Given the description of an element on the screen output the (x, y) to click on. 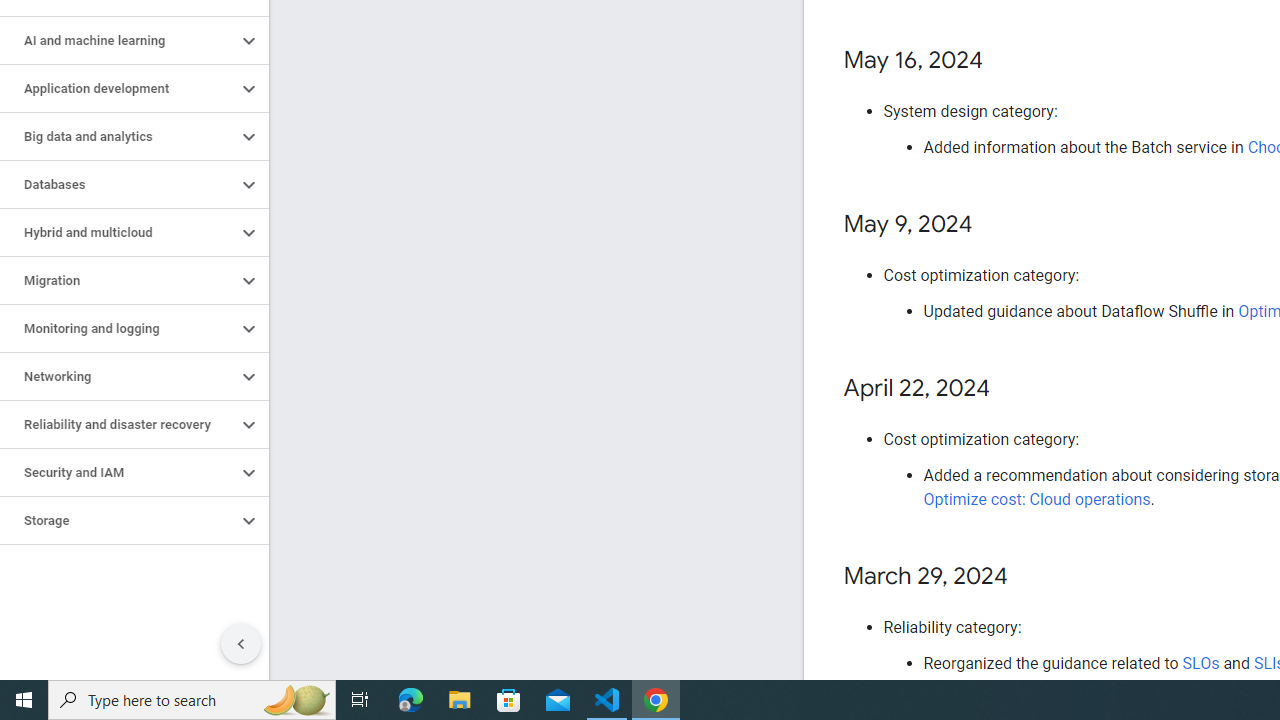
Migration (118, 281)
Copy link to this section: April 22, 2024 (1009, 389)
Reliability and disaster recovery (118, 425)
Storage (118, 520)
Copy link to this section: May 9, 2024 (991, 225)
Monitoring and logging (118, 328)
Copy link to this section: March 29, 2024 (1027, 577)
AI and machine learning (118, 40)
Databases (118, 184)
Optimize cost: Cloud operations (1036, 499)
SLOs (1200, 663)
Networking (118, 376)
Application development (118, 88)
Security and IAM (118, 472)
Hide side navigation (241, 643)
